Given the description of an element on the screen output the (x, y) to click on. 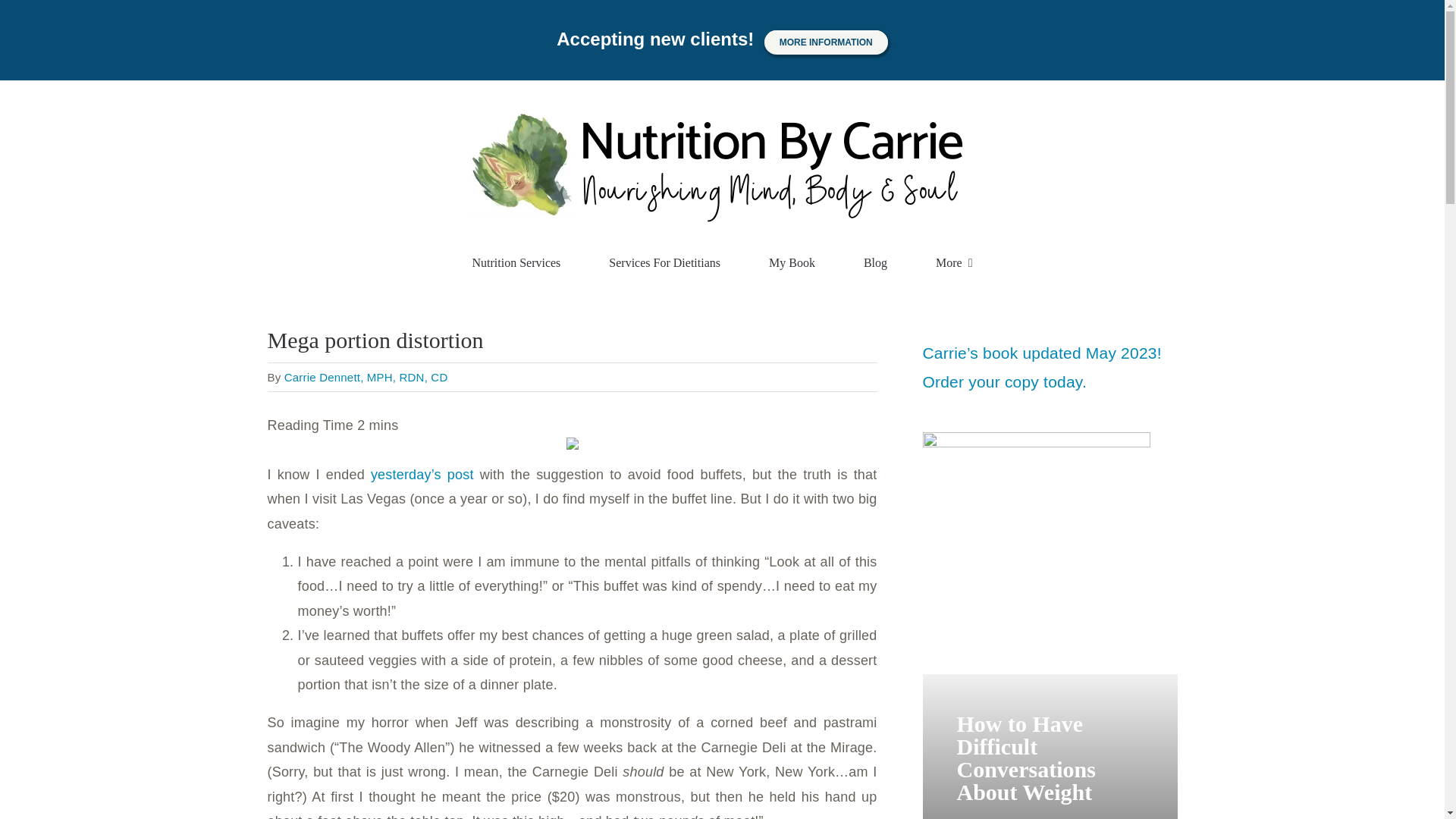
Services For Dietitians (664, 263)
My Book (791, 263)
Nutrition Services (515, 263)
Carrie Dennett, MPH, RDN, CD (365, 377)
Posts by Carrie Dennett, MPH, RDN, CD (365, 377)
MORE INFORMATION (826, 42)
